Given the description of an element on the screen output the (x, y) to click on. 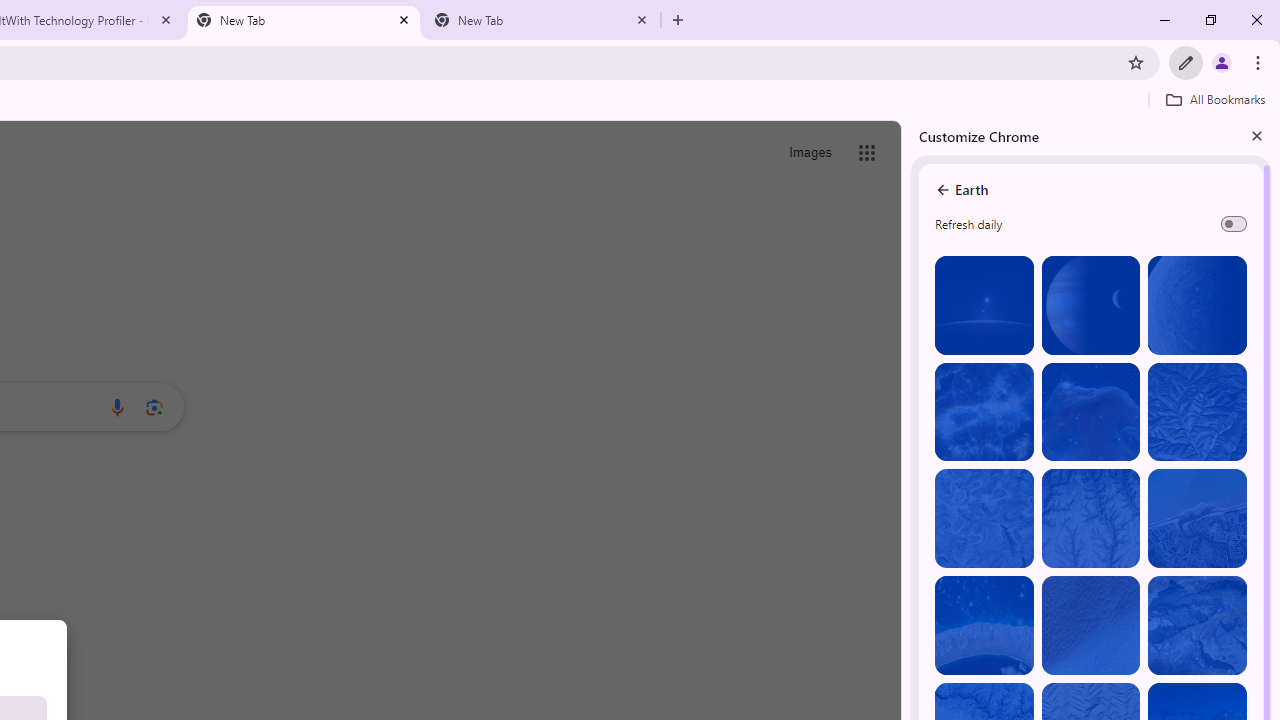
Sanaag, Somalia (1090, 518)
The Tuamotu and Gambier Islands, French Polynesia (984, 625)
Zermatt, Wallis, Switzerland (1197, 625)
